Given the description of an element on the screen output the (x, y) to click on. 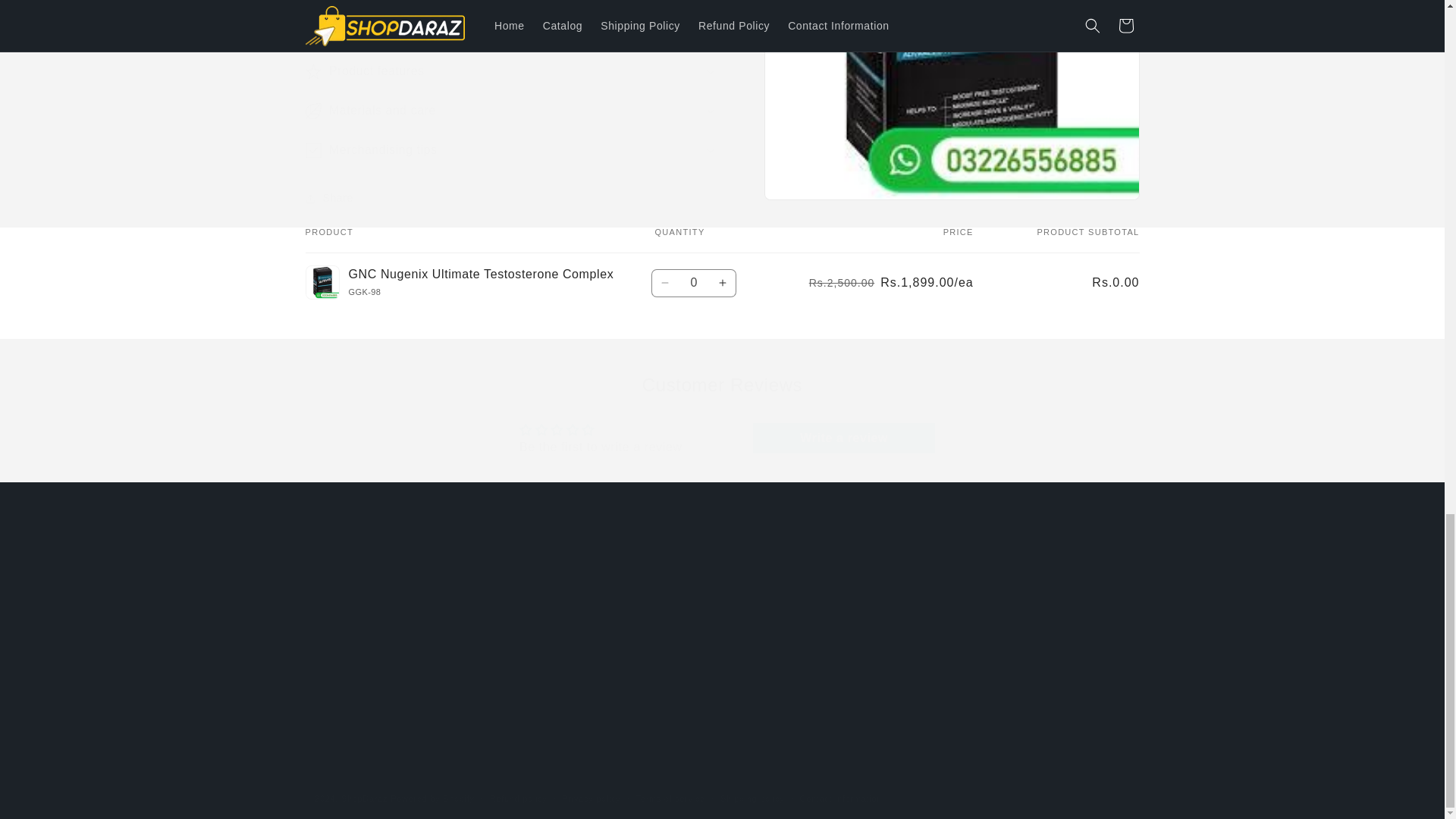
Contact Information (566, 611)
0 (693, 283)
ShopDaraz (363, 798)
Shipping Policy (555, 664)
Search (533, 586)
Privacy Policy (551, 637)
Write a review (843, 438)
Increase quantity for Default Title (723, 283)
Powered by Shopify (432, 798)
Decrease quantity for Default Title (665, 283)
